Given the description of an element on the screen output the (x, y) to click on. 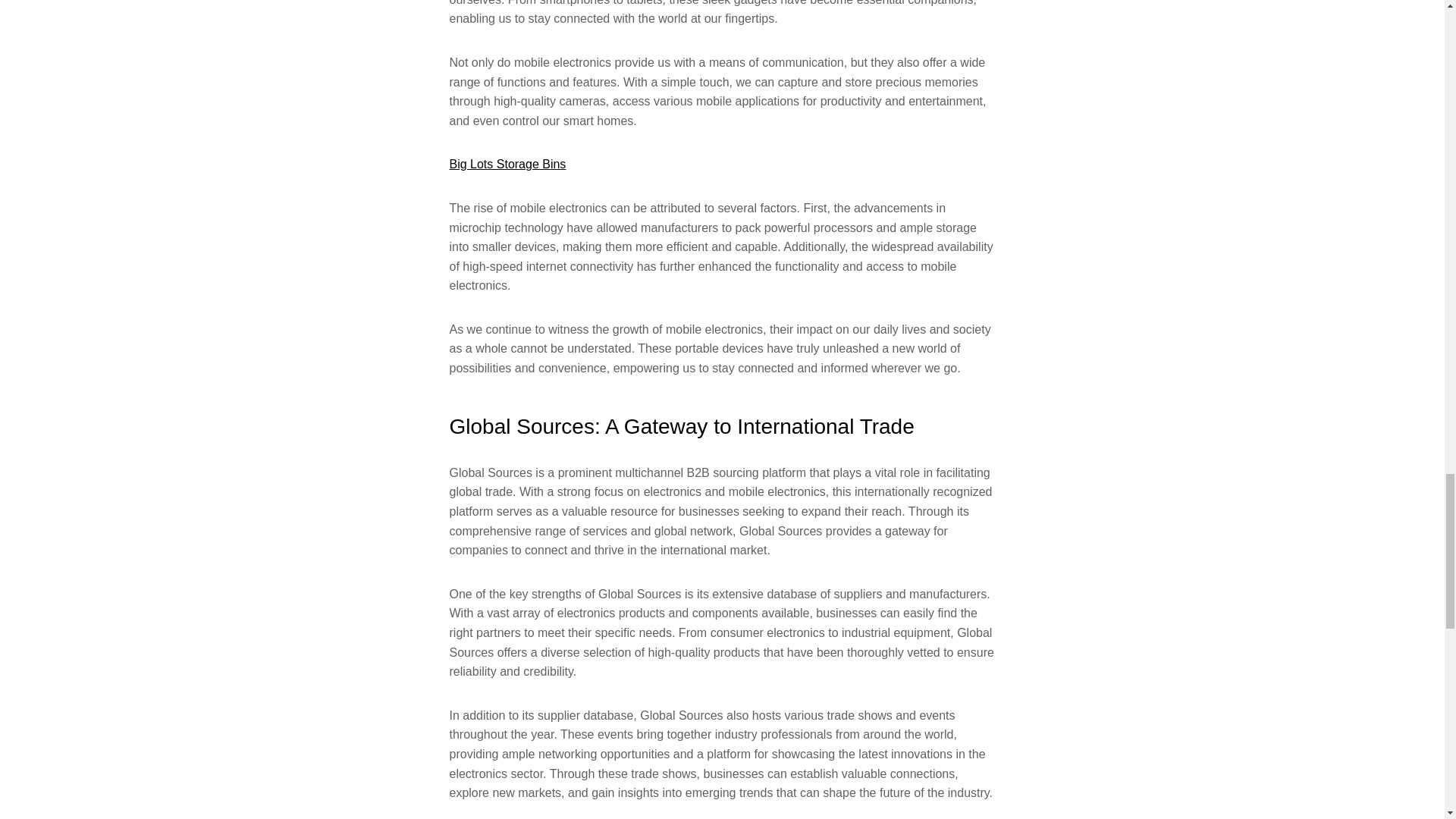
Big Lots Storage Bins (507, 164)
